Given the description of an element on the screen output the (x, y) to click on. 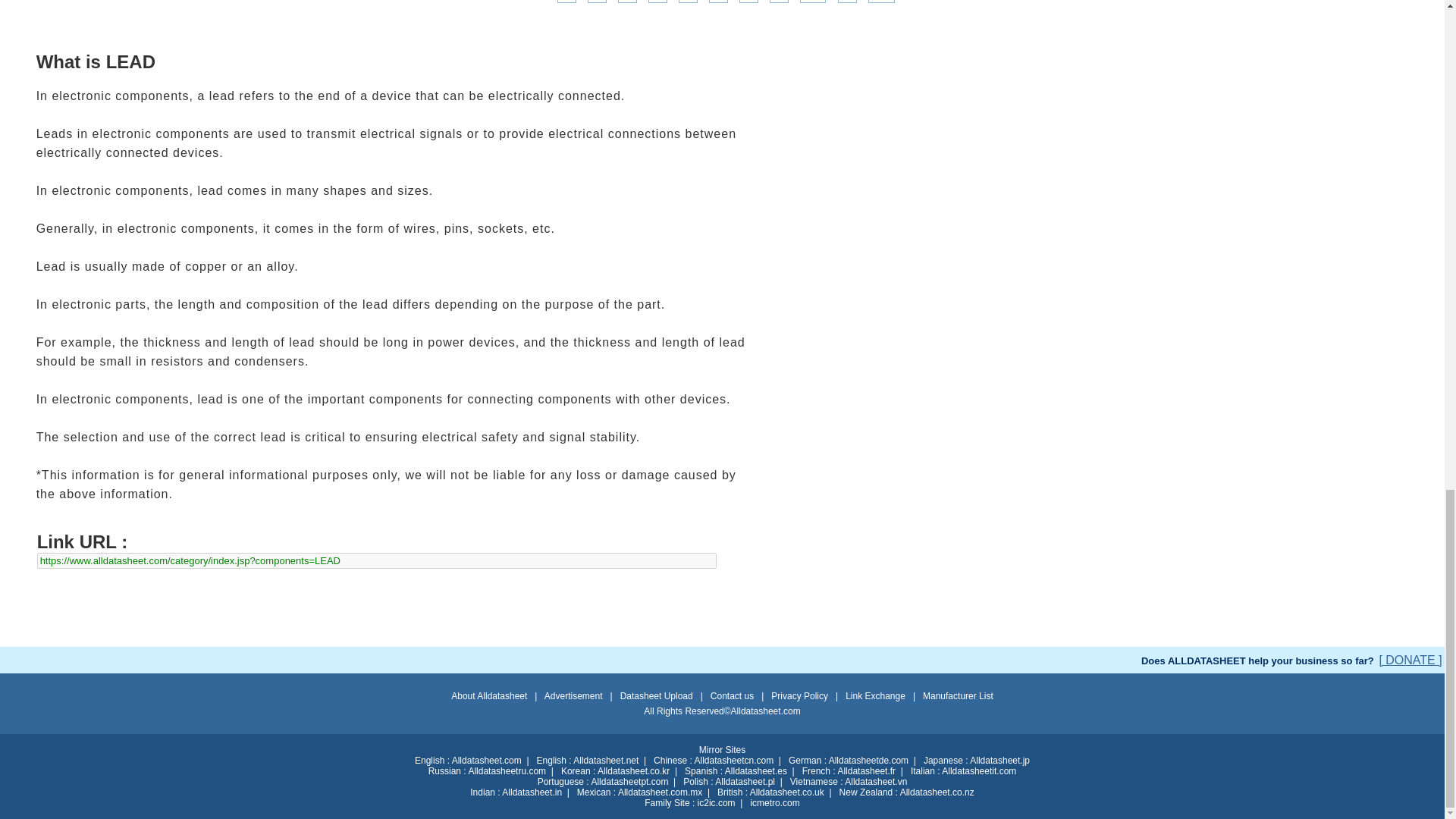
Advertisement (721, 612)
